Given the description of an element on the screen output the (x, y) to click on. 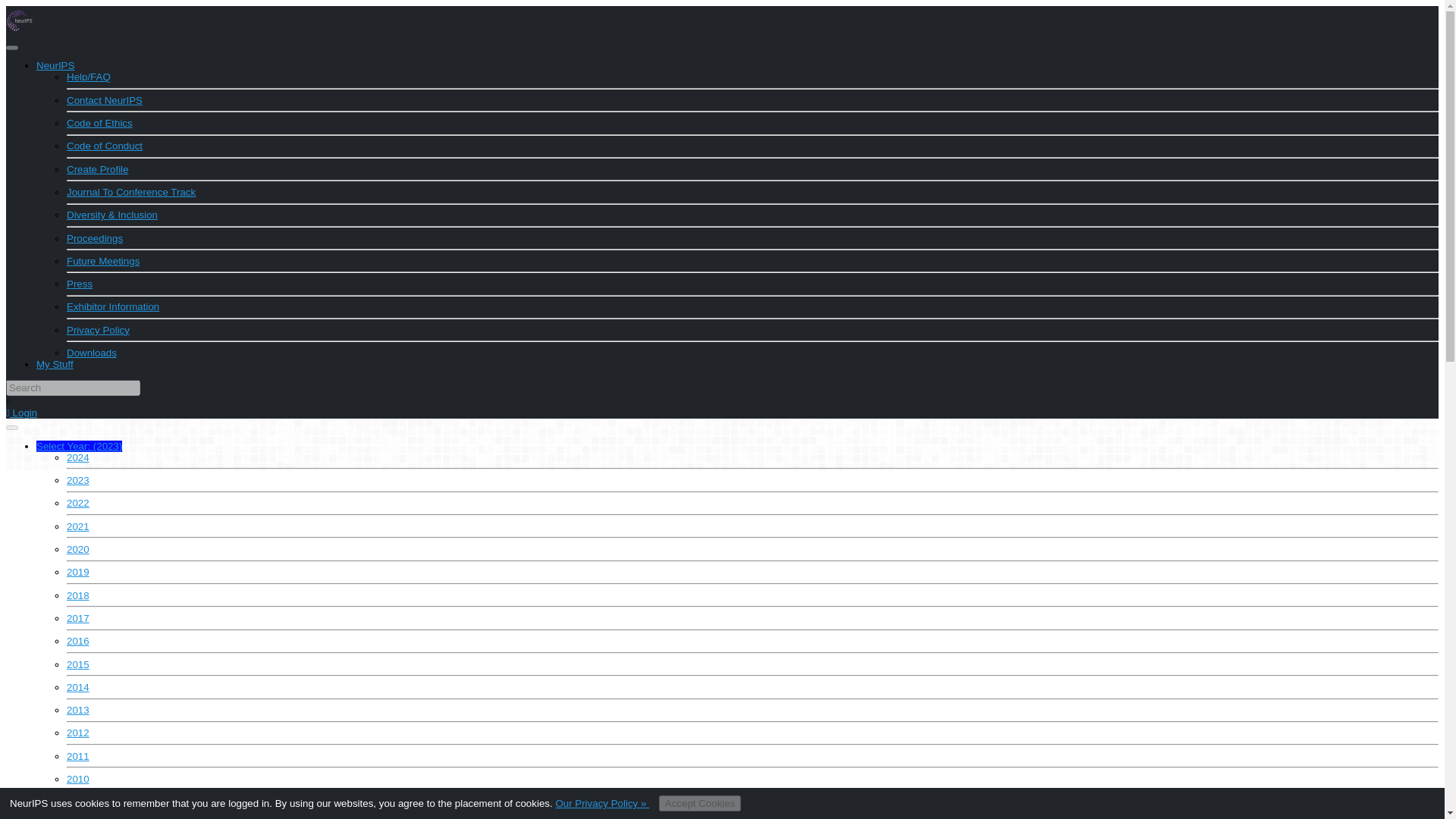
Downloads (91, 352)
Exhibitor Information (112, 306)
Future Meetings (102, 260)
2011 (77, 756)
2009 (77, 801)
Journal To Conference Track (130, 192)
2013 (77, 709)
Code of Conduct (104, 145)
2010 (77, 778)
2023 (77, 480)
2022 (77, 502)
2021 (77, 526)
2014 (77, 686)
Privacy Policy (97, 329)
Press (79, 283)
